Given the description of an element on the screen output the (x, y) to click on. 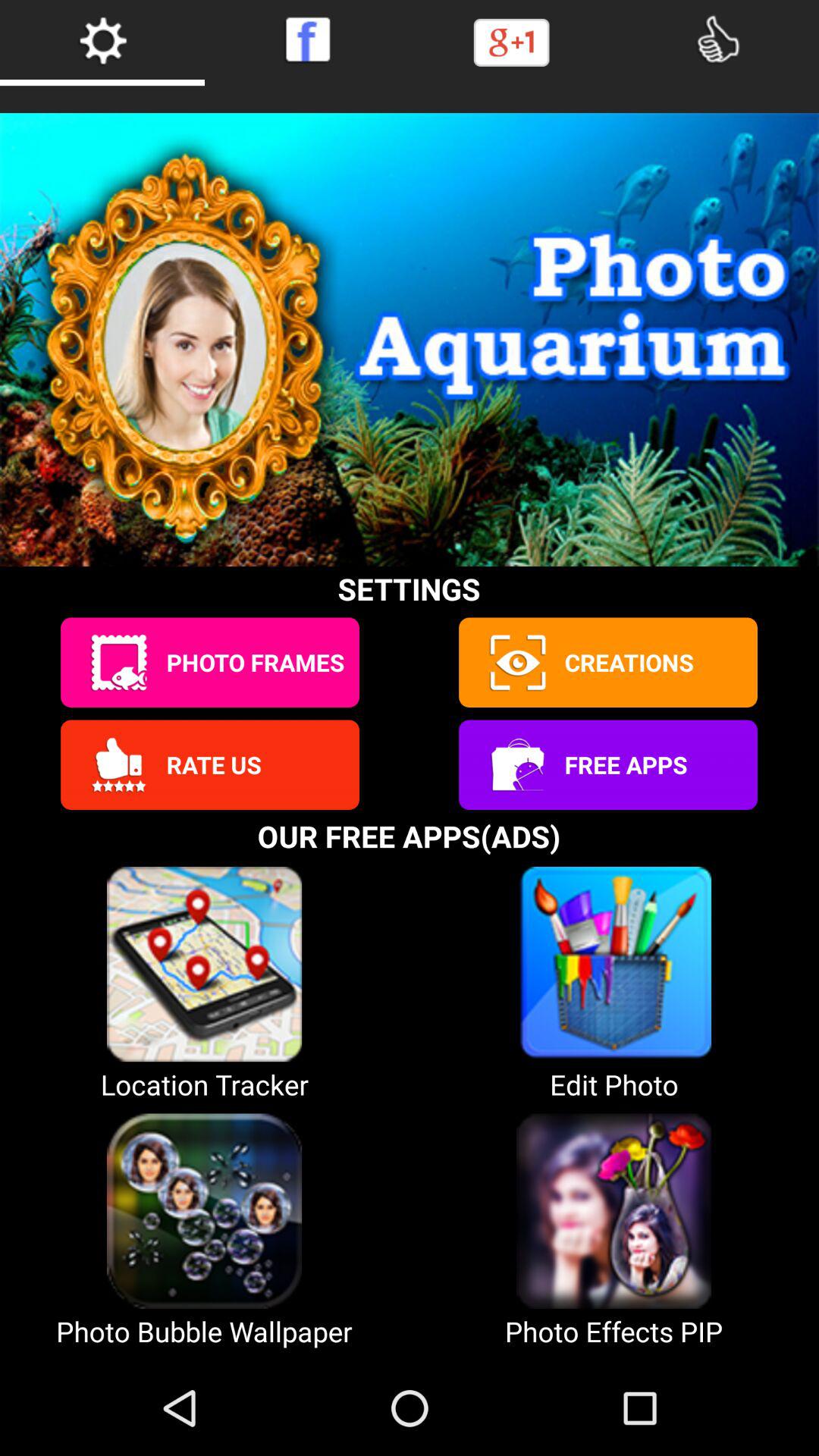
go to advertisement (516, 764)
